Given the description of an element on the screen output the (x, y) to click on. 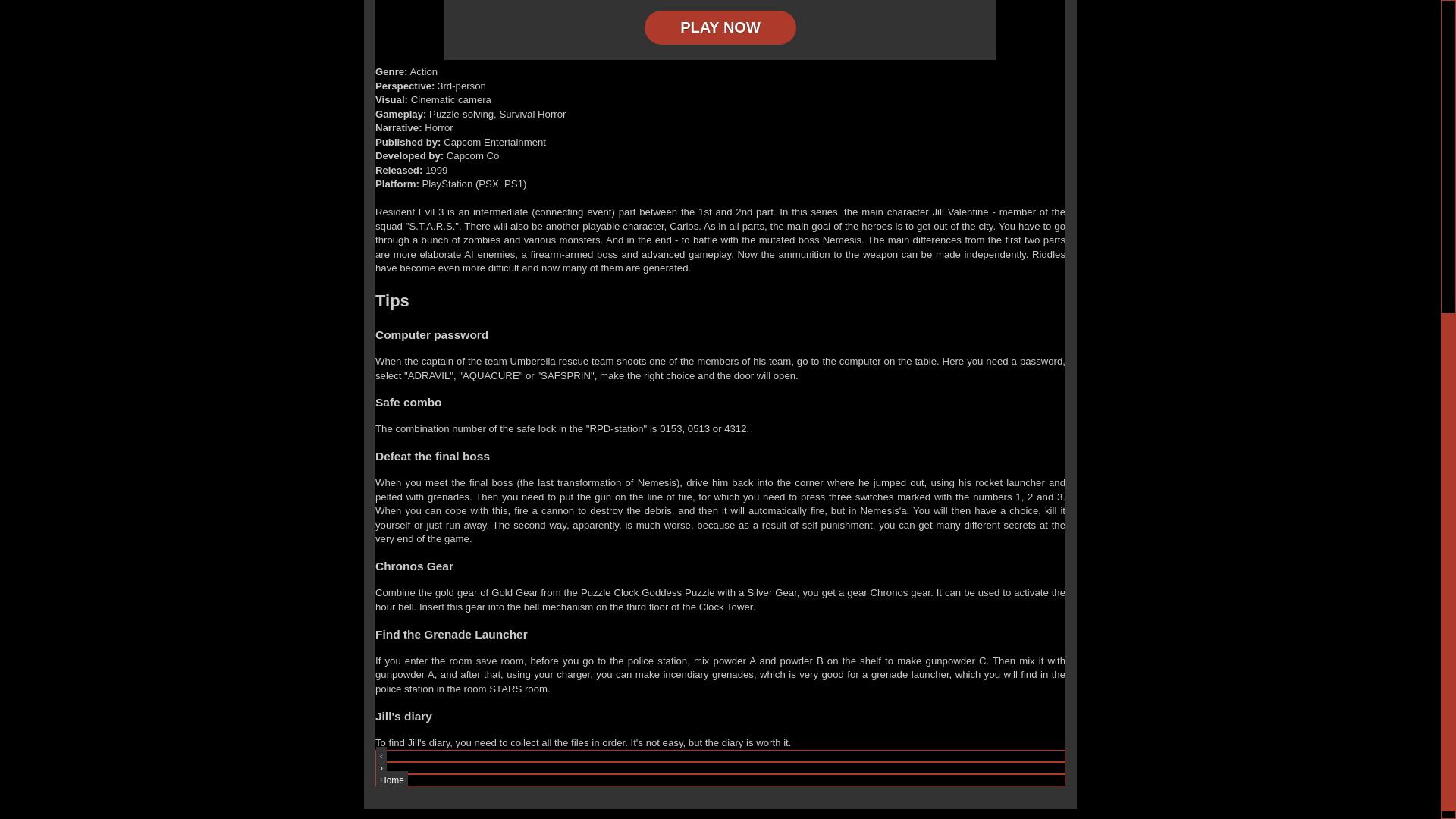
Older Post (381, 768)
Home (391, 780)
Newer Post (381, 755)
